Given the description of an element on the screen output the (x, y) to click on. 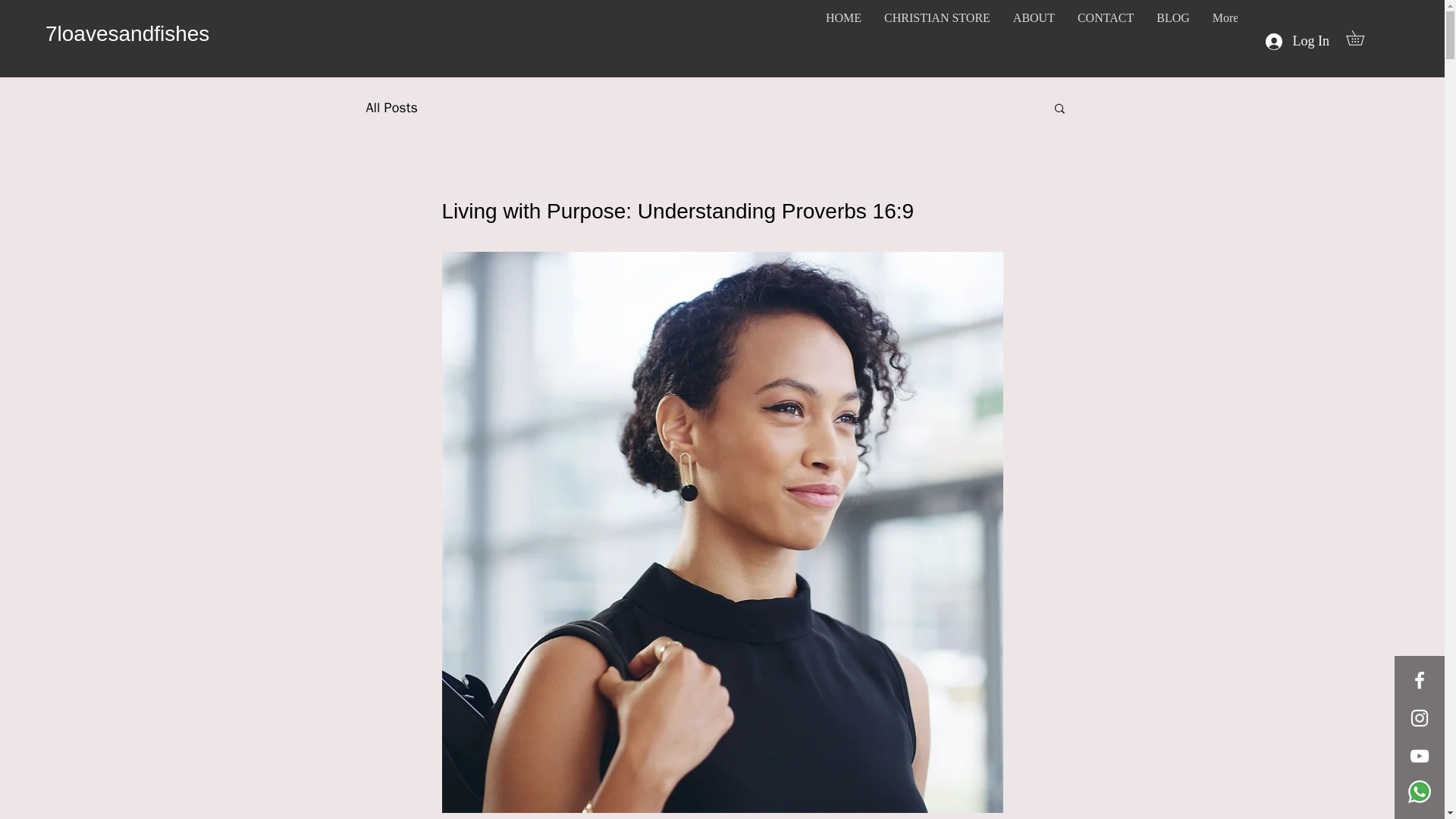
HOME (842, 40)
Log In (1296, 41)
All Posts (390, 107)
CHRISTIAN STORE (936, 40)
CONTACT (1104, 40)
BLOG (1172, 40)
ABOUT (1033, 40)
7loavesandfishes (127, 33)
